Given the description of an element on the screen output the (x, y) to click on. 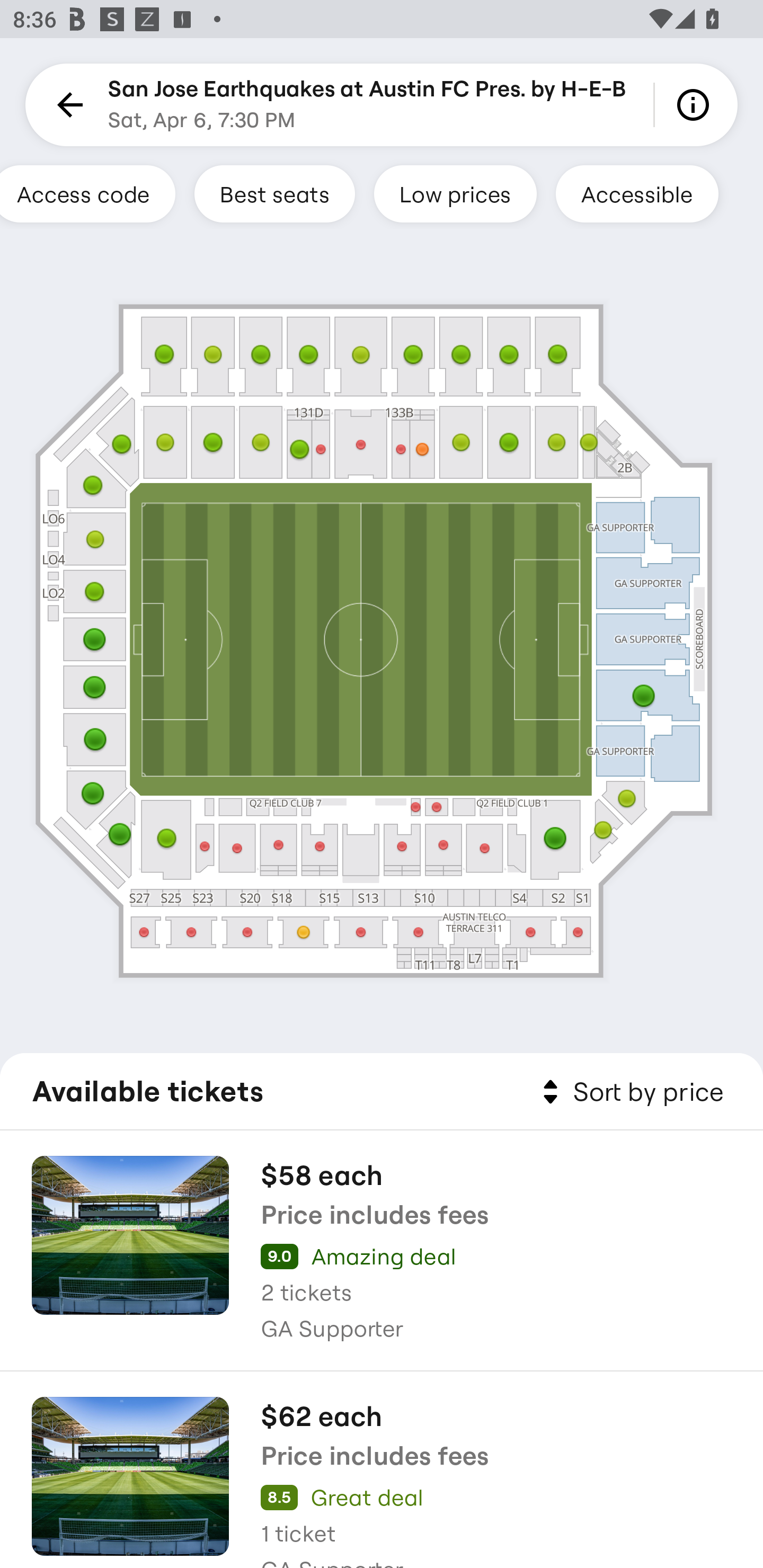
Back (66, 104)
Info (695, 104)
Access code (87, 193)
Best seats (274, 193)
Low prices (454, 193)
Accessible (636, 193)
Sort by price (629, 1091)
